Given the description of an element on the screen output the (x, y) to click on. 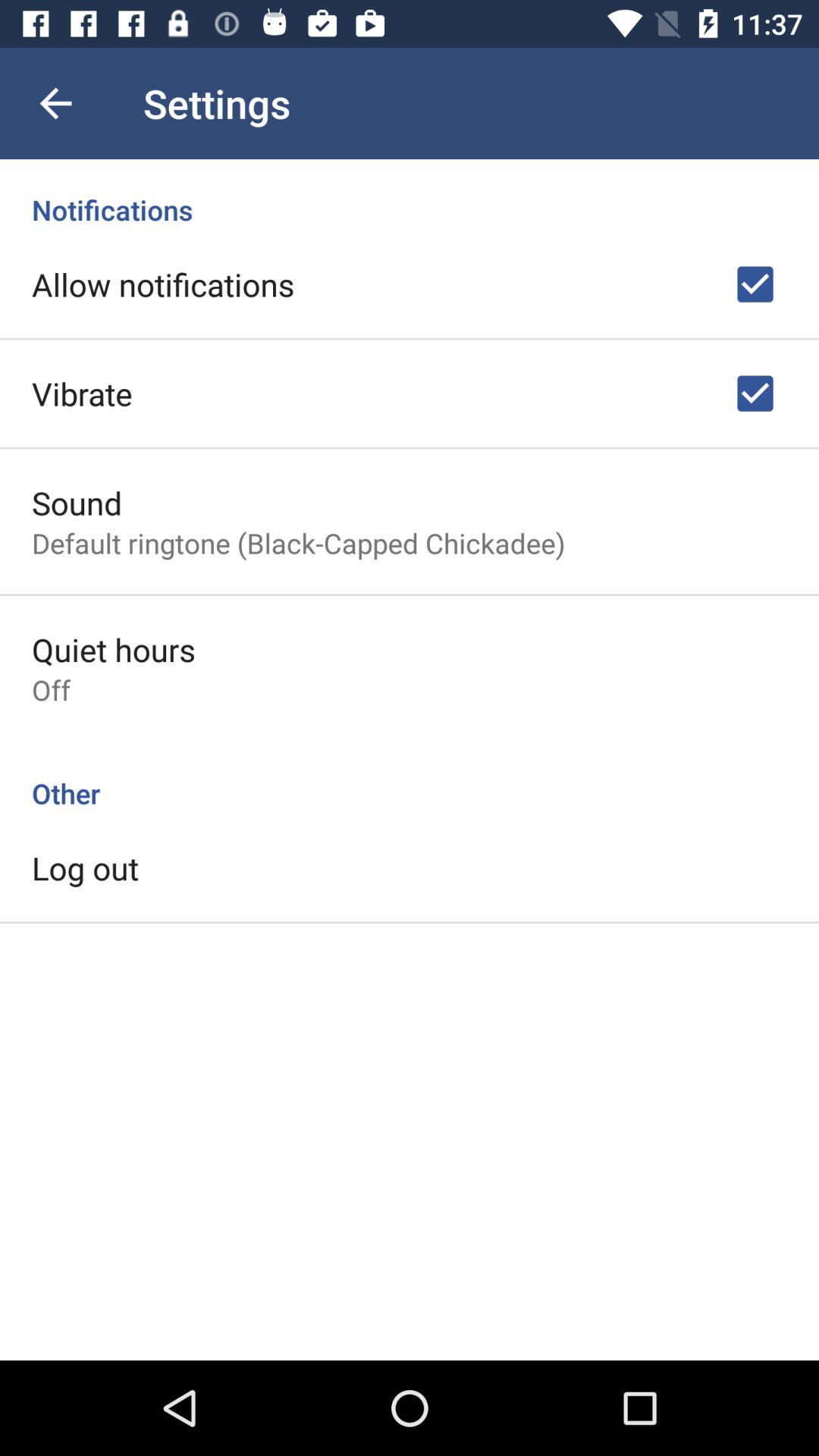
turn on quiet hours icon (113, 649)
